Given the description of an element on the screen output the (x, y) to click on. 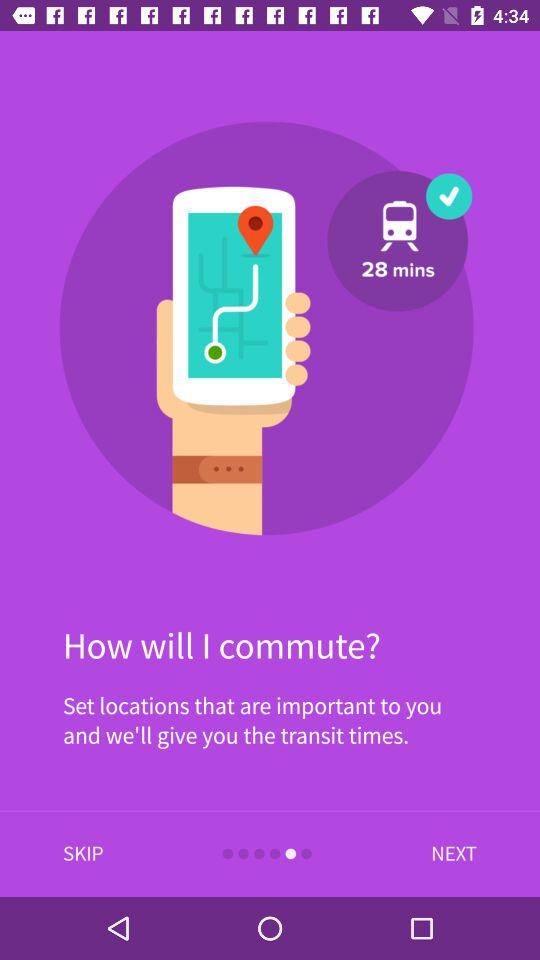
swipe to next icon (449, 853)
